Given the description of an element on the screen output the (x, y) to click on. 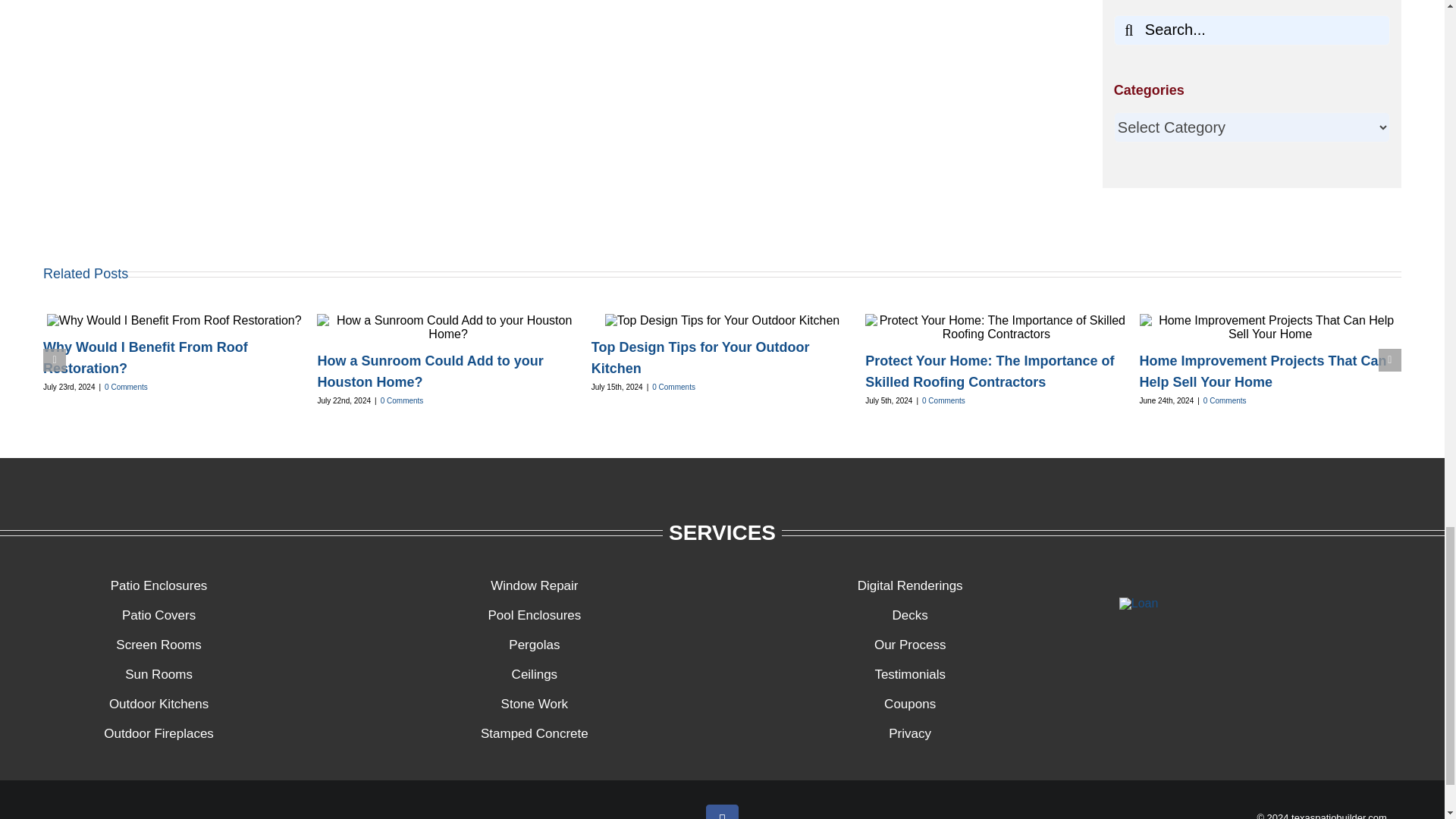
Why Would I Benefit From Roof Restoration? (145, 357)
Top Design Tips for Your Outdoor Kitchen (700, 357)
Why Would I Benefit From Roof Restoration? (145, 357)
How a Sunroom Could Add to your Houston Home? (430, 370)
Facebook (722, 811)
Home Improvement Projects That Can Help Sell Your Home (1263, 370)
